Given the description of an element on the screen output the (x, y) to click on. 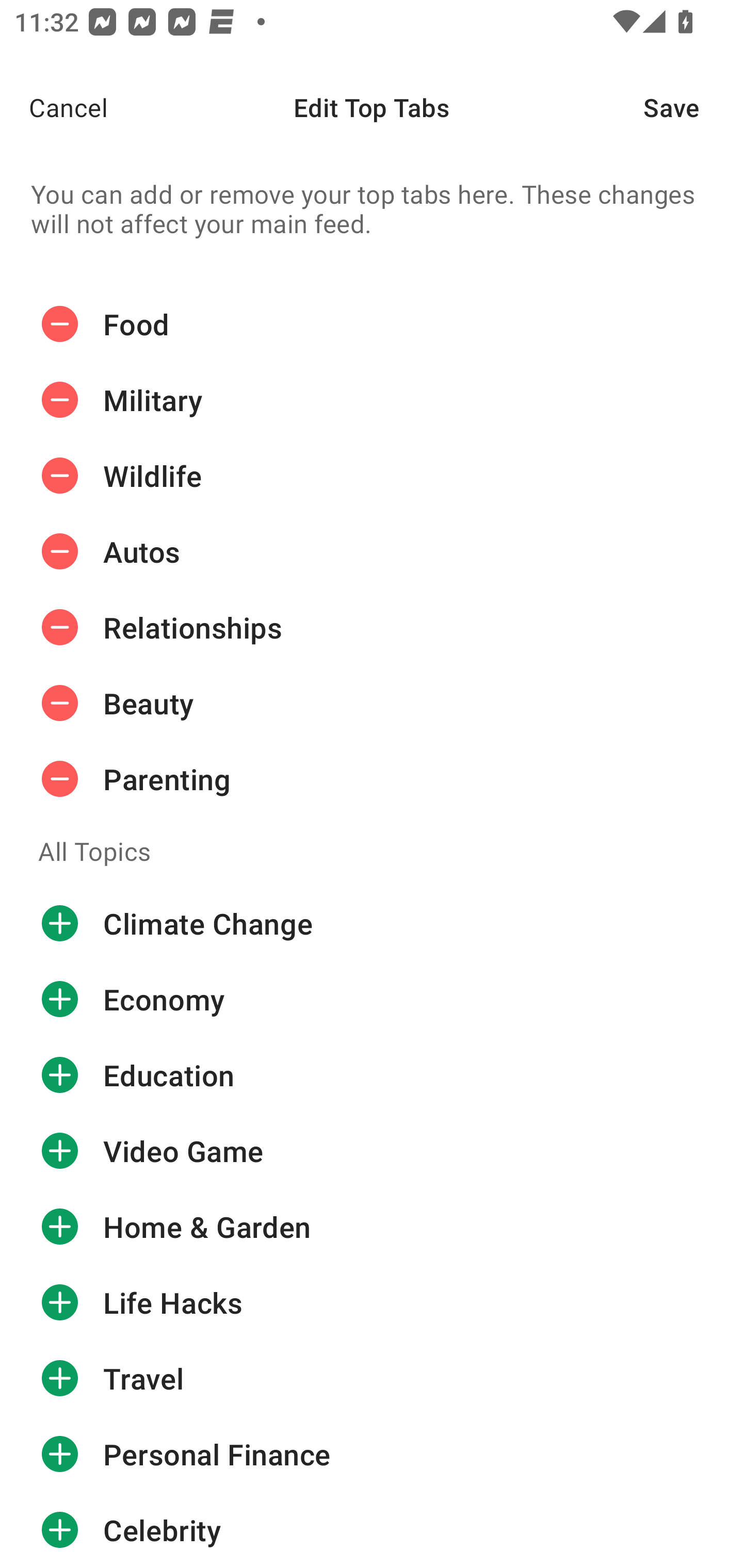
Cancel (53, 106)
Save (693, 106)
Food (371, 328)
Military (371, 399)
Wildlife (371, 475)
Autos (371, 551)
Relationships (371, 626)
Beauty (371, 702)
Parenting (371, 778)
Climate Change (371, 923)
Economy (371, 999)
Education (371, 1075)
Video Game (371, 1150)
Home & Garden (371, 1226)
Life Hacks (371, 1302)
Travel (371, 1377)
Personal Finance (371, 1453)
Celebrity (371, 1530)
